Given the description of an element on the screen output the (x, y) to click on. 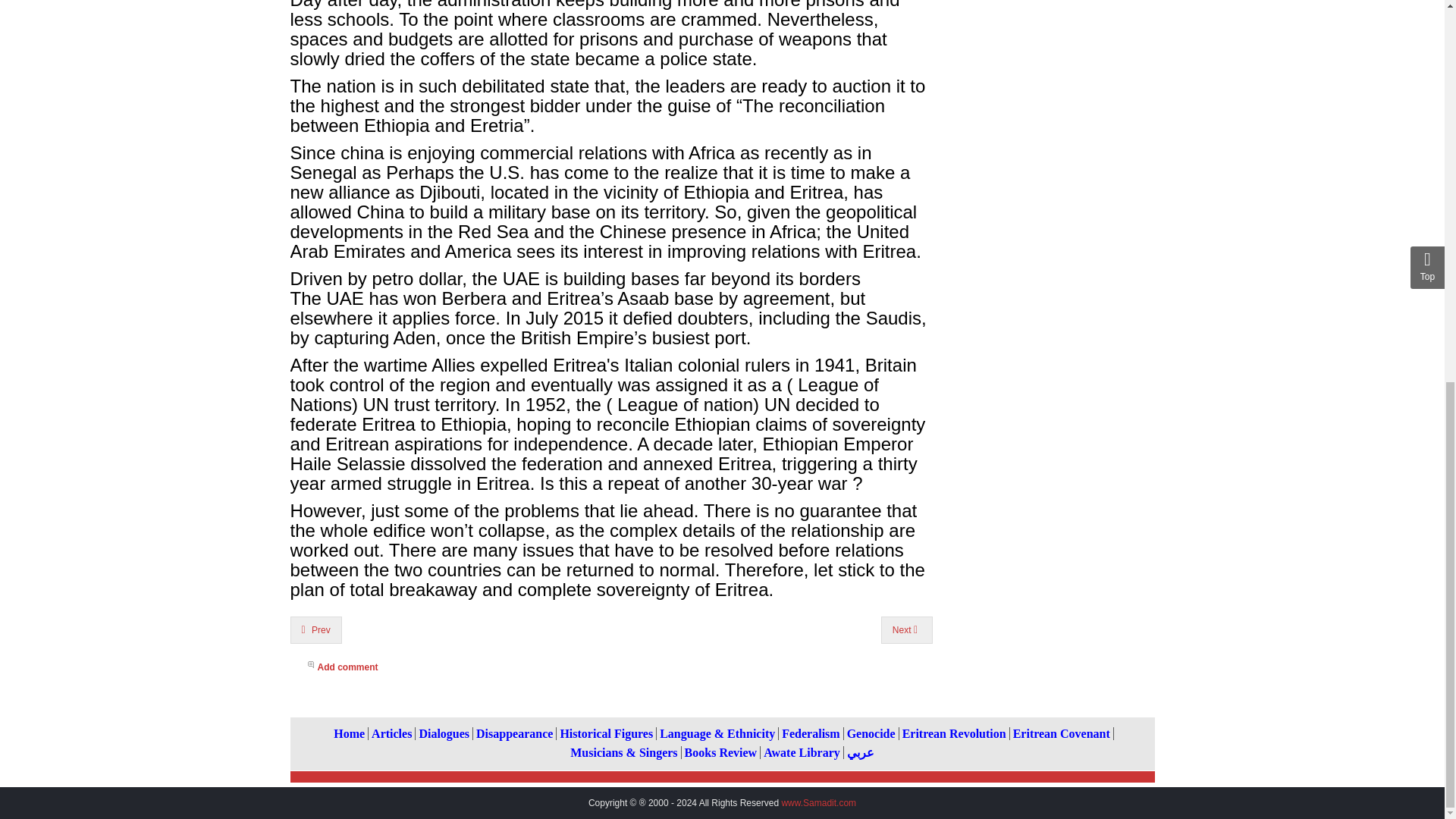
Prev (314, 629)
Add comment (619, 669)
Next (906, 629)
